Given the description of an element on the screen output the (x, y) to click on. 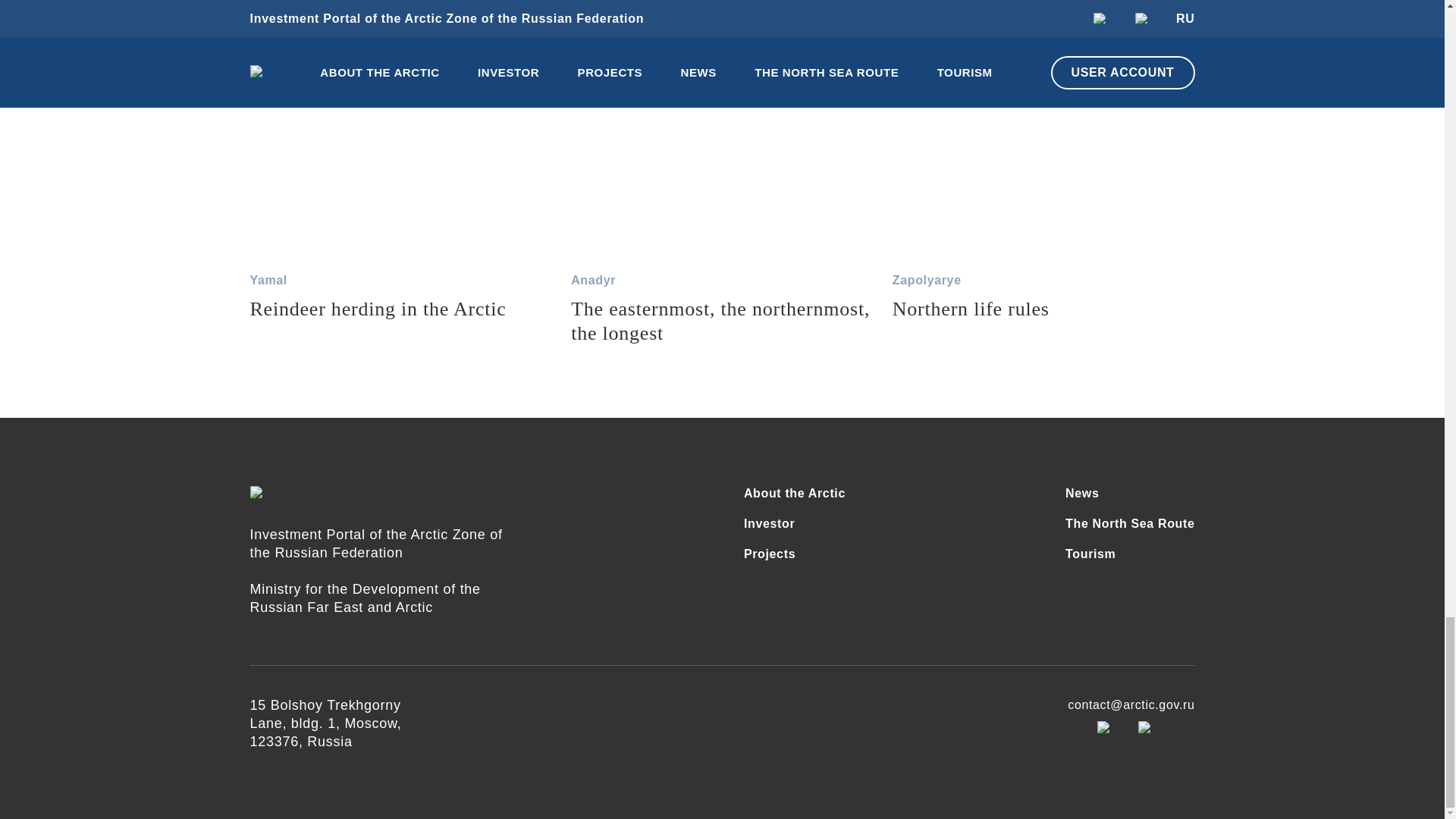
The North Sea Route (1129, 524)
Projects (794, 554)
About the Arctic (401, 172)
Investor (794, 493)
Tourism (794, 524)
News (1129, 554)
